Given the description of an element on the screen output the (x, y) to click on. 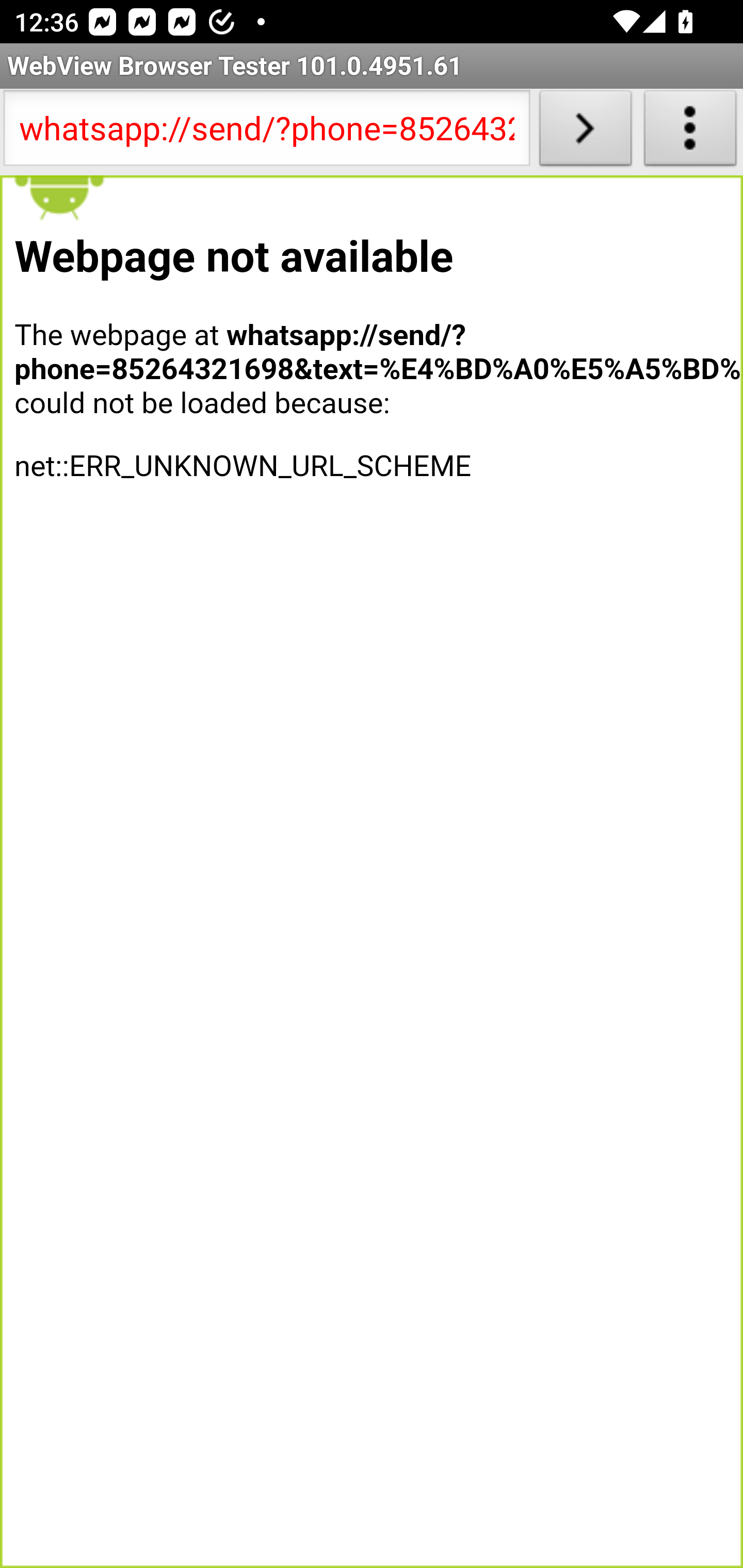
Load URL (585, 132)
About WebView (690, 132)
